Given the description of an element on the screen output the (x, y) to click on. 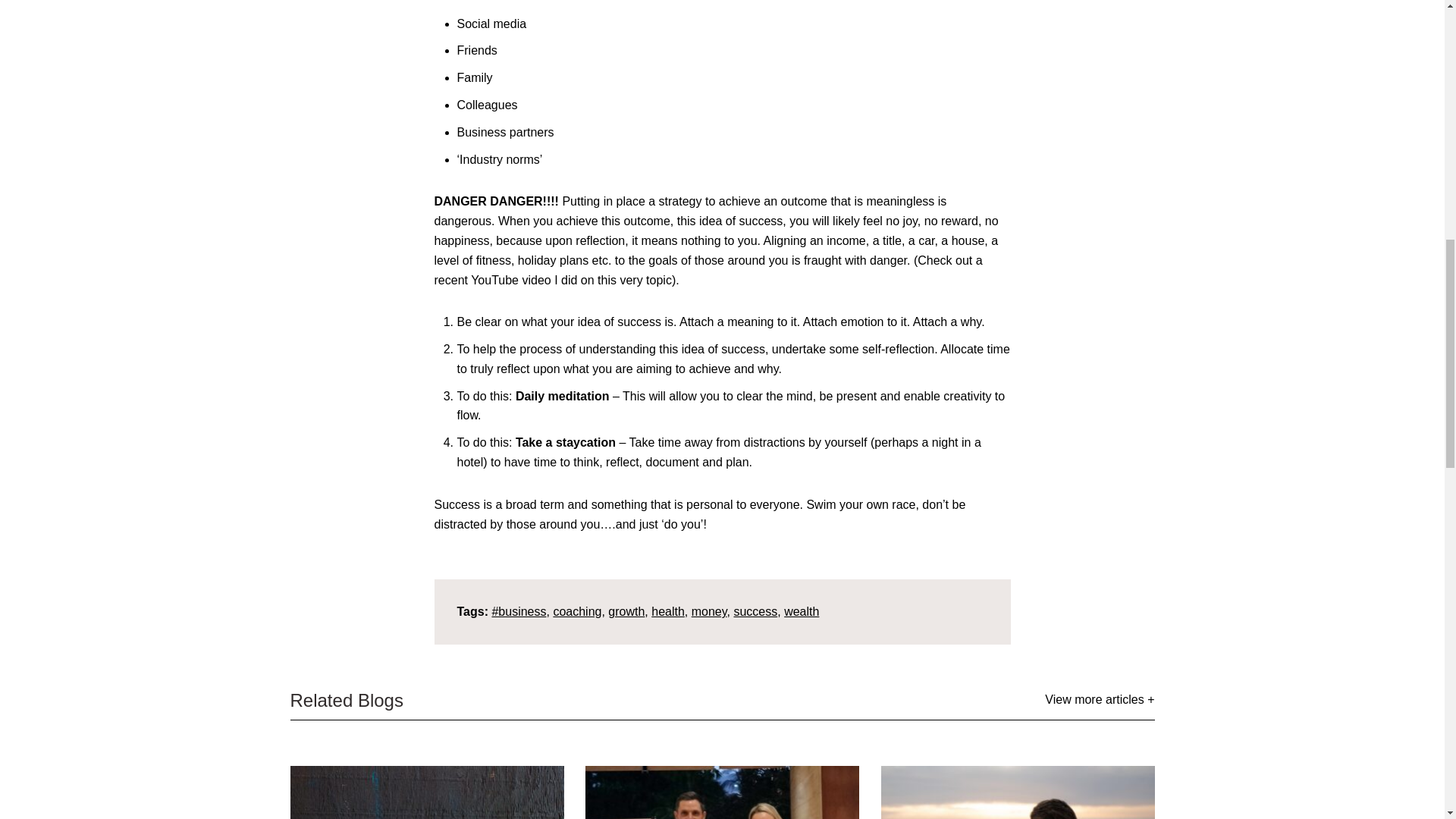
success (755, 611)
health (667, 611)
growth (626, 611)
wealth (801, 611)
money (708, 611)
coaching (577, 611)
